Given the description of an element on the screen output the (x, y) to click on. 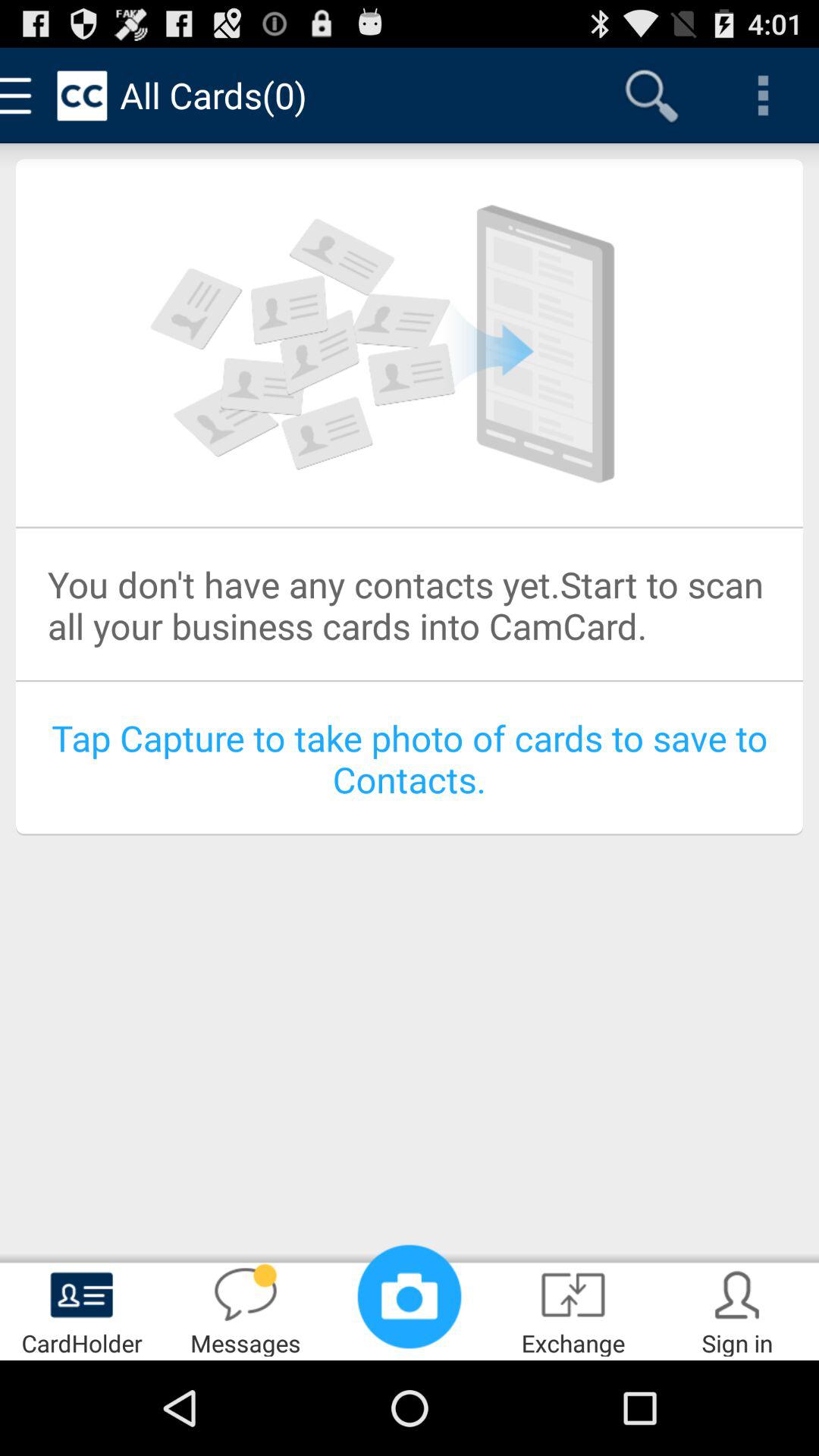
turn on item next to messages app (409, 1296)
